Given the description of an element on the screen output the (x, y) to click on. 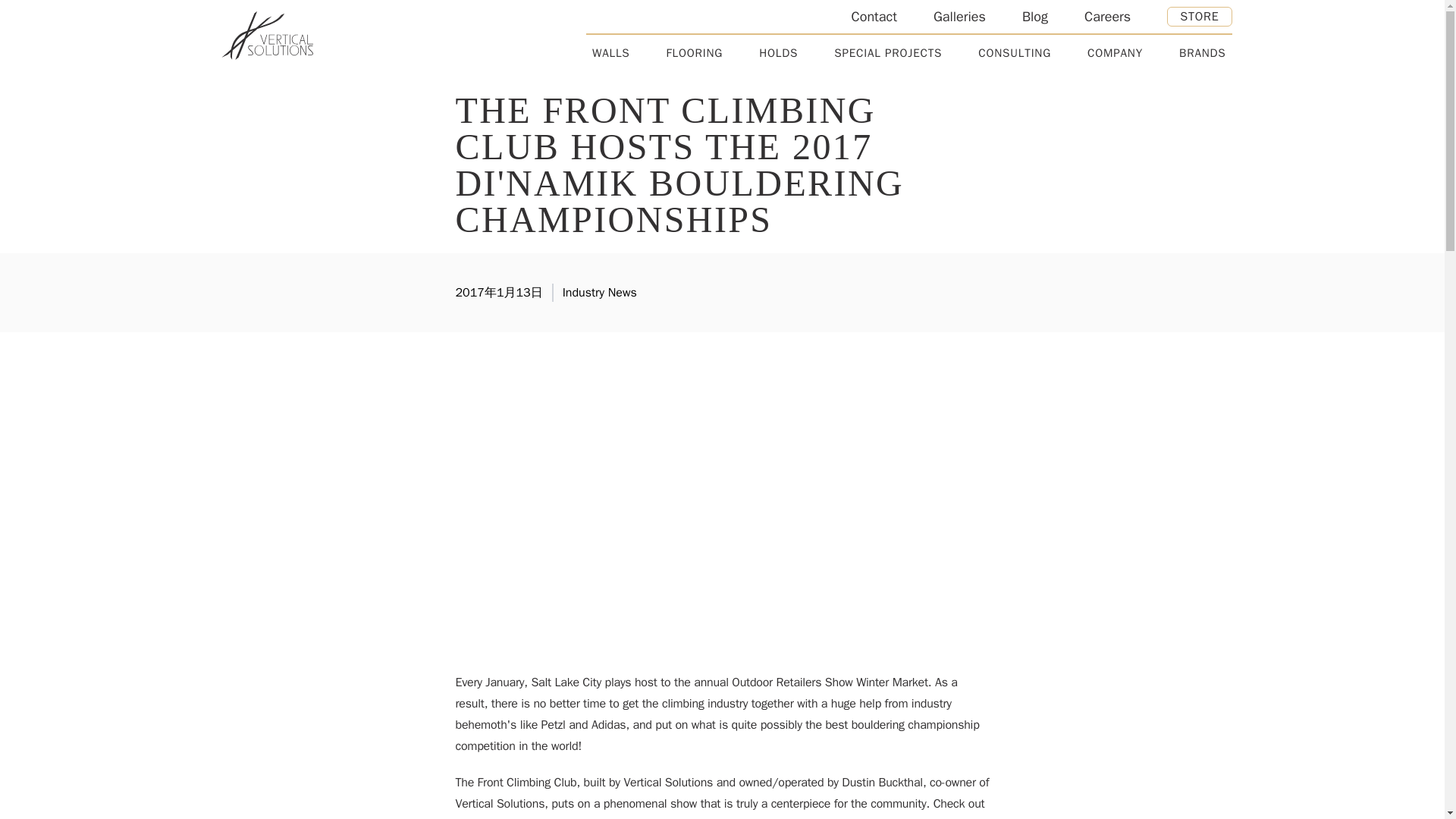
BRANDS (1202, 53)
CONSULTING (1013, 53)
Contact (873, 16)
WALLS (610, 53)
Galleries (959, 16)
FLOORING (694, 53)
COMPANY (1114, 53)
Blog (1035, 16)
Careers (1107, 16)
HOLDS (778, 53)
STORE (1199, 16)
SPECIAL PROJECTS (887, 53)
